Given the description of an element on the screen output the (x, y) to click on. 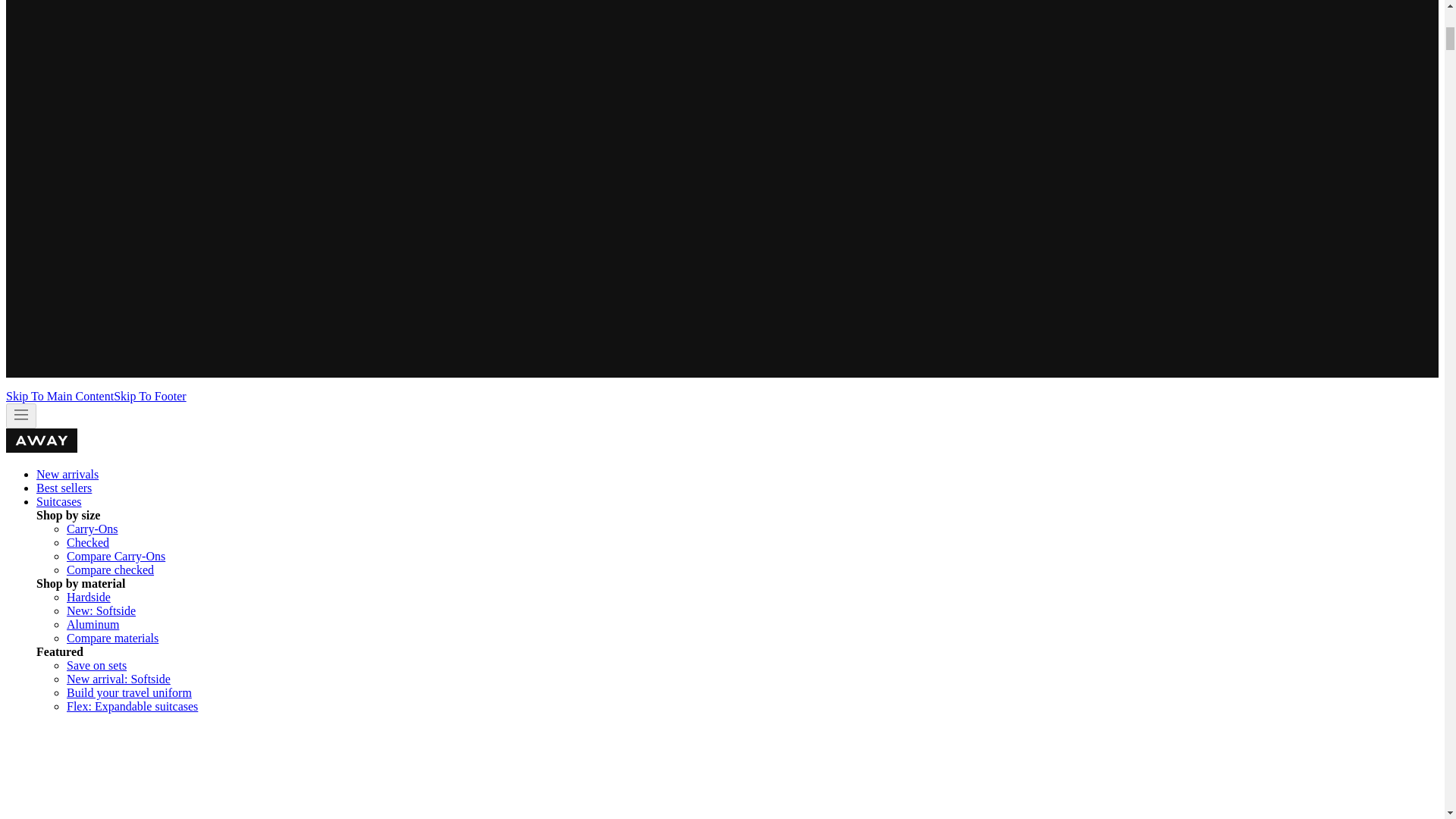
Carry-Ons (91, 528)
Away (41, 448)
Compare checked (110, 569)
Hardside (88, 596)
Away (41, 440)
Skip To Footer (149, 395)
New: Softside (100, 610)
Checked (87, 542)
Skip To Main Content (59, 395)
Compare Carry-Ons (115, 555)
